Given the description of an element on the screen output the (x, y) to click on. 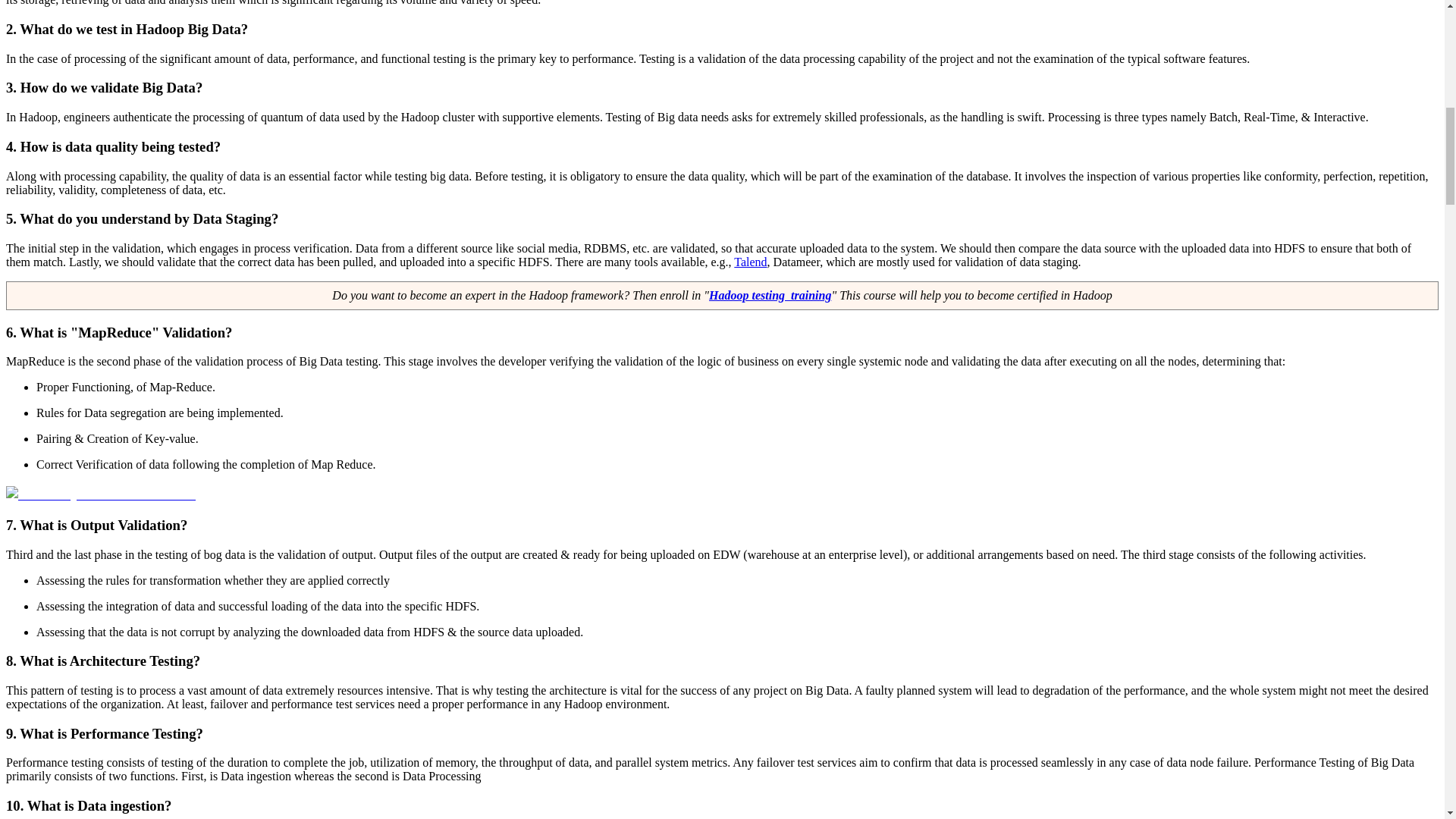
Hadoop testing  training (770, 295)
Subscribe MindMajix YouTube Channel (100, 494)
Talend (750, 261)
Hadoop Testing Training (770, 295)
